Given the description of an element on the screen output the (x, y) to click on. 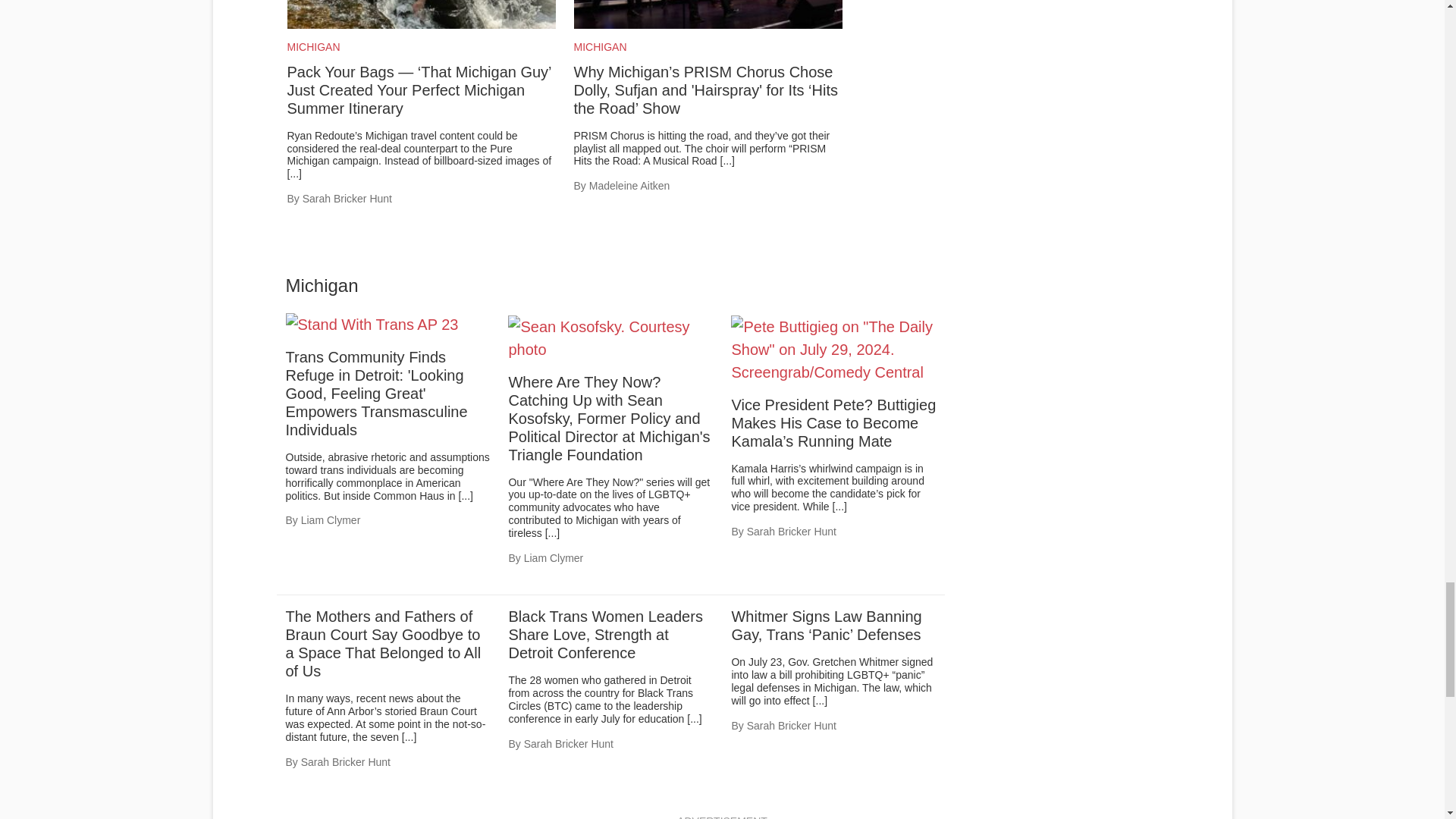
Read More (551, 532)
Read More (839, 506)
Read More (694, 718)
Read More (727, 160)
Read More (293, 173)
Read More (819, 700)
Read More (408, 736)
Read More (464, 495)
